Given the description of an element on the screen output the (x, y) to click on. 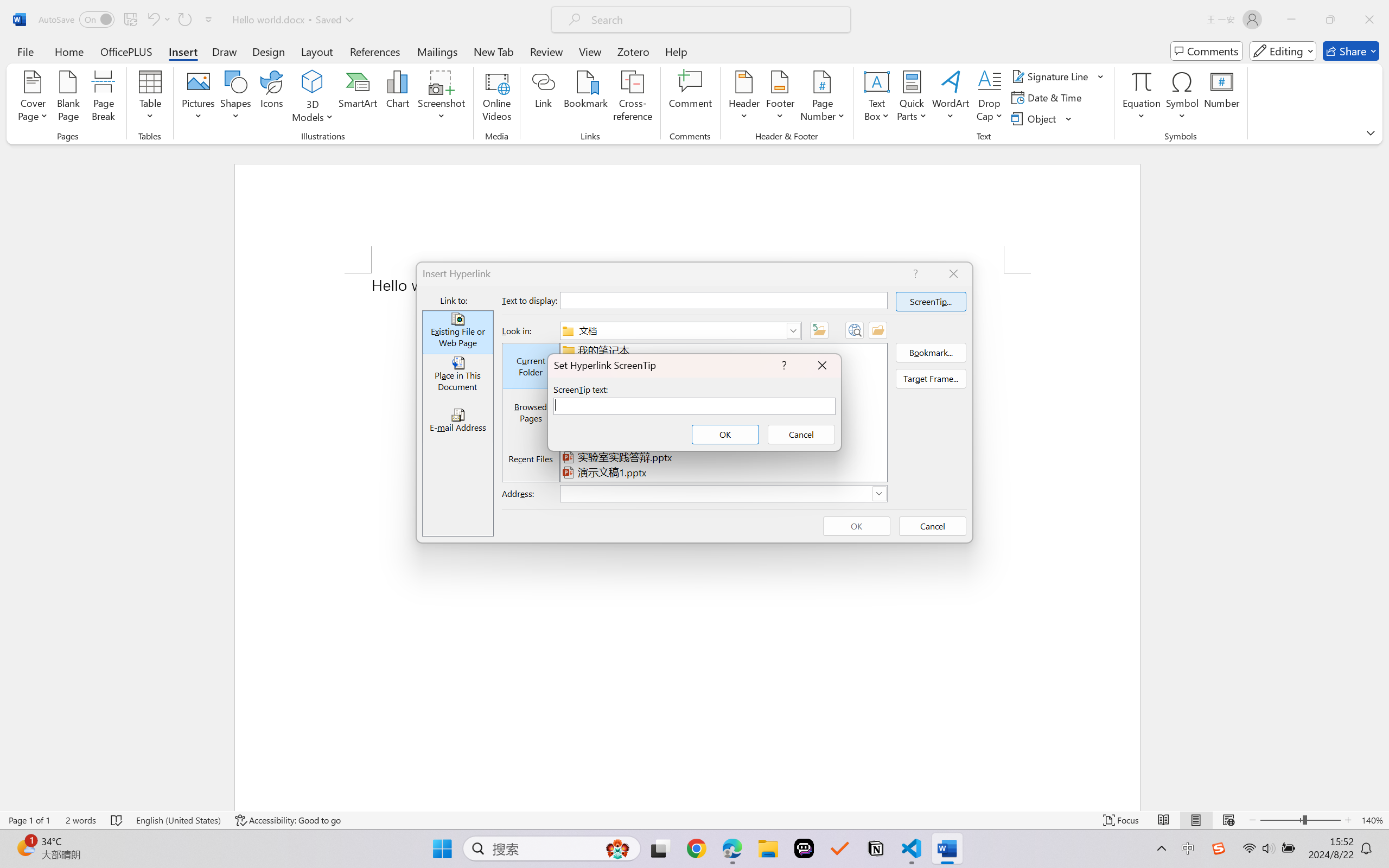
Cancel (801, 434)
Poe (804, 848)
Spelling and Grammar Check No Errors (117, 819)
Link (543, 97)
RichEdit Control (694, 406)
Symbol (1181, 97)
Number... (1221, 97)
Object... (1042, 118)
Quick Access Toolbar (127, 19)
Text to display: (723, 300)
Drop Cap (989, 97)
